Given the description of an element on the screen output the (x, y) to click on. 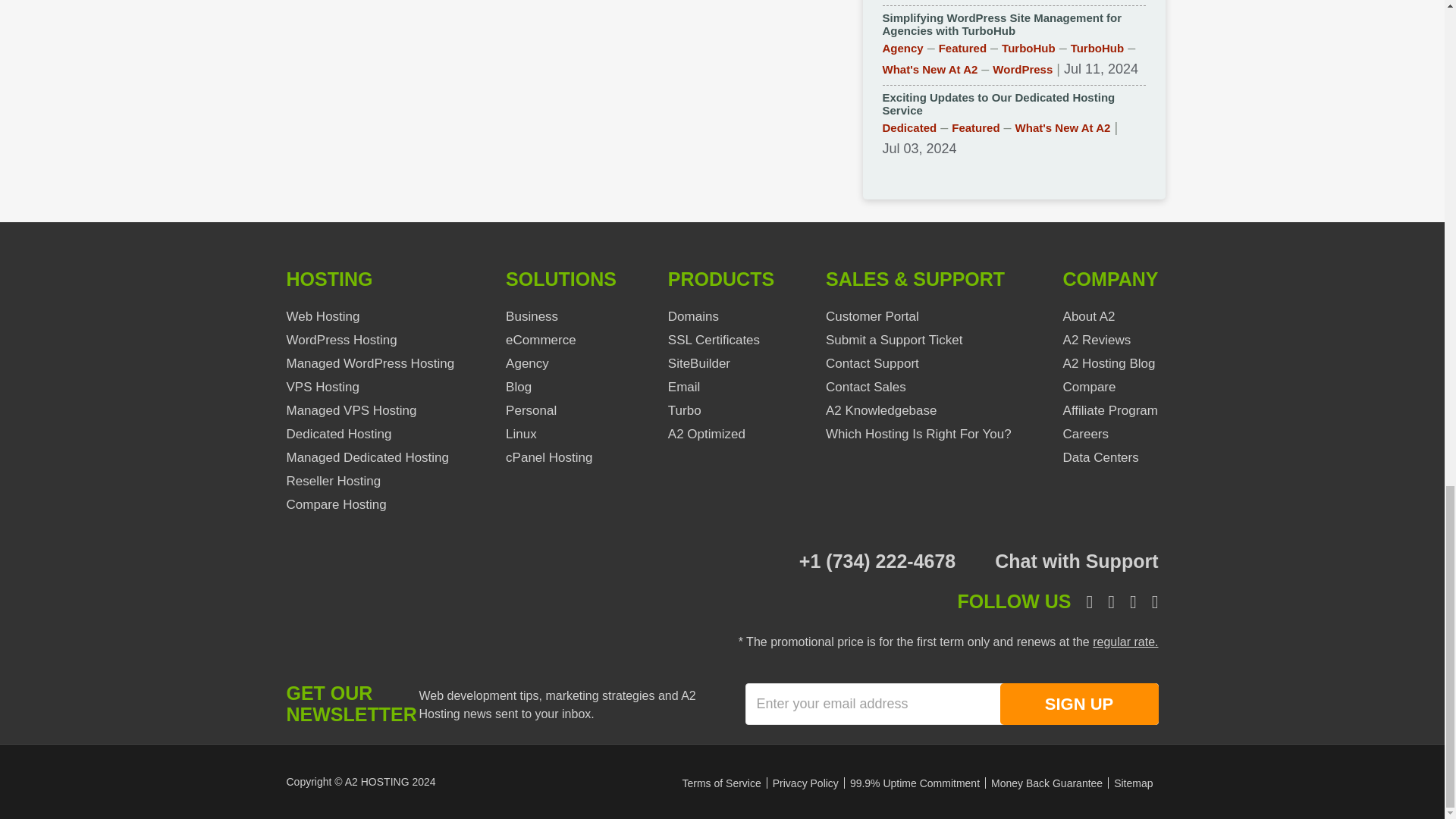
SIGN UP (1077, 703)
